Given the description of an element on the screen output the (x, y) to click on. 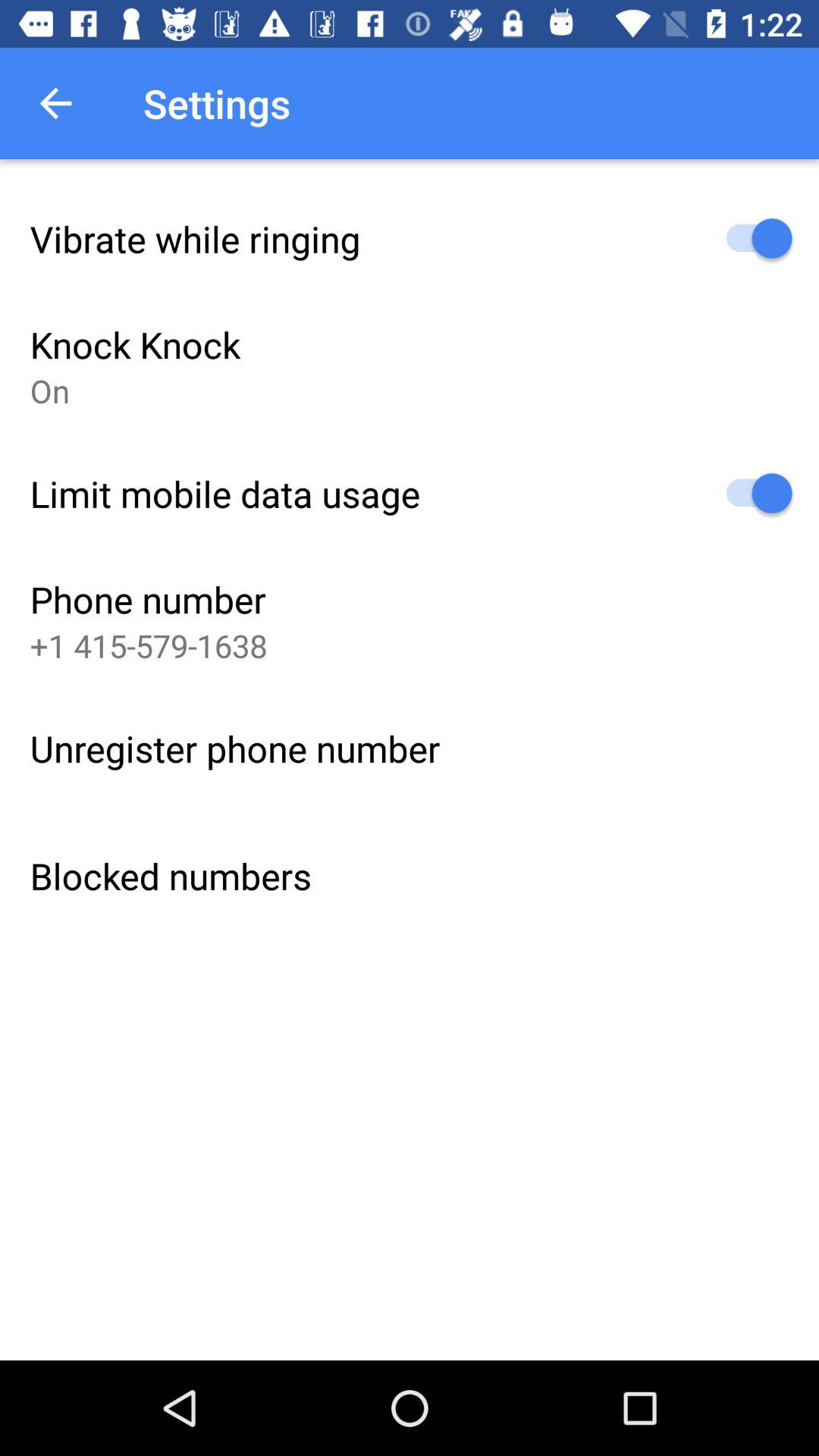
launch the limit mobile data (225, 493)
